Given the description of an element on the screen output the (x, y) to click on. 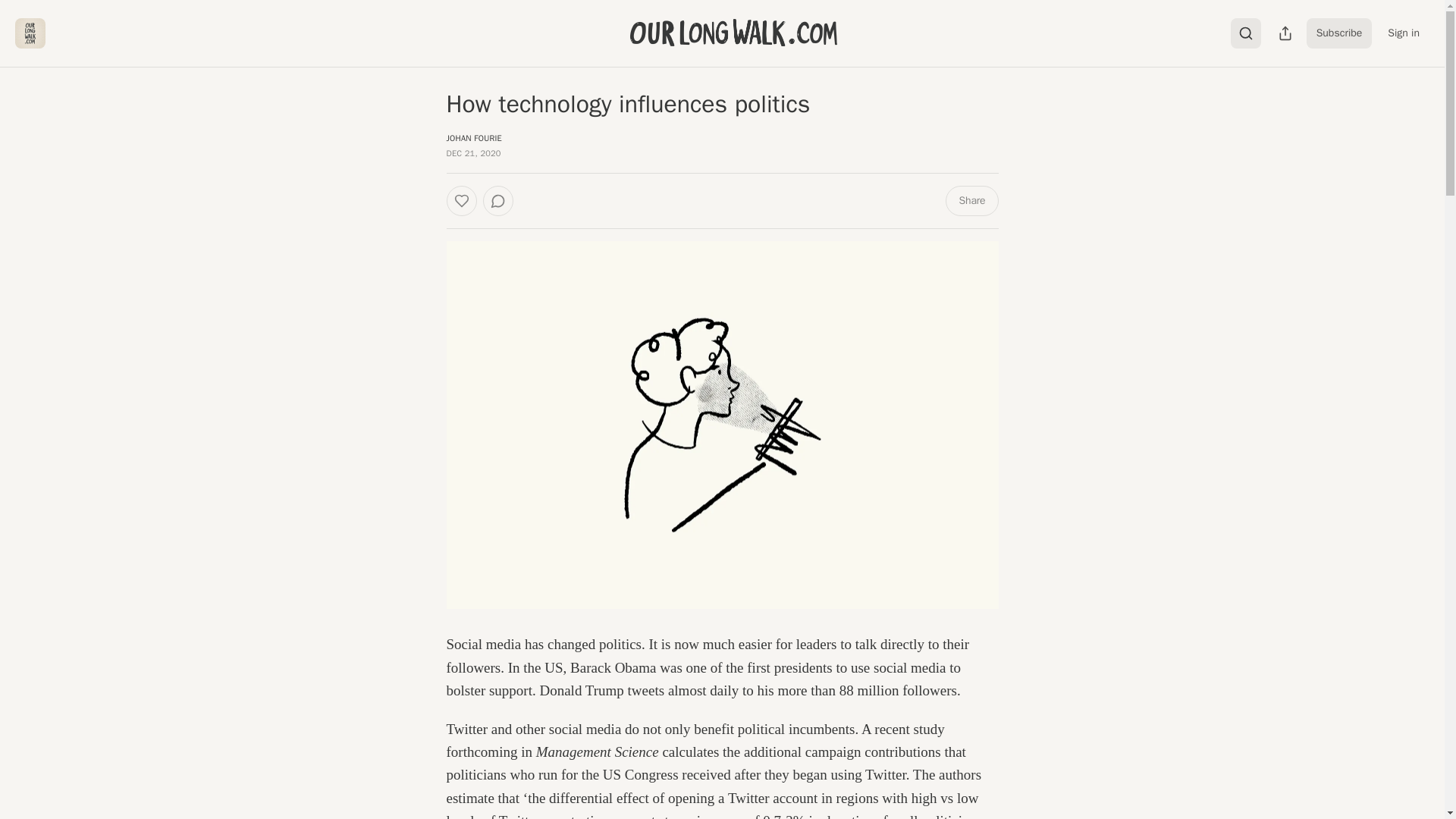
Sign in (1403, 33)
Share (970, 200)
JOHAN FOURIE (472, 137)
Subscribe (1339, 33)
